Given the description of an element on the screen output the (x, y) to click on. 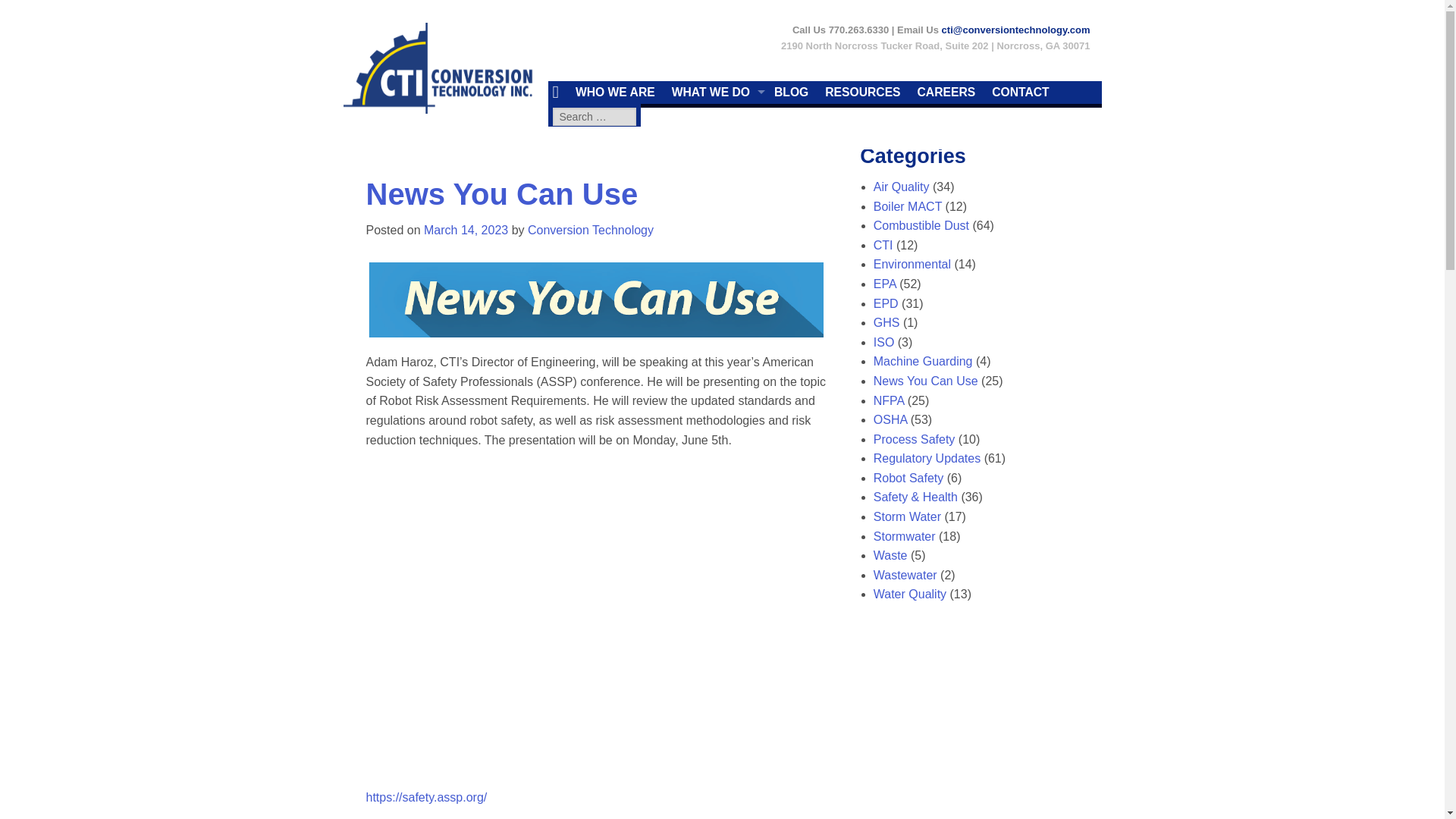
Conversion Technology (590, 229)
Machine Guarding (922, 360)
RESOURCES (866, 92)
EPA (884, 283)
March 14, 2023 (465, 229)
Home (558, 92)
ISO (884, 341)
Boiler MACT (907, 205)
Air Quality (901, 186)
Environmental (911, 264)
